Given the description of an element on the screen output the (x, y) to click on. 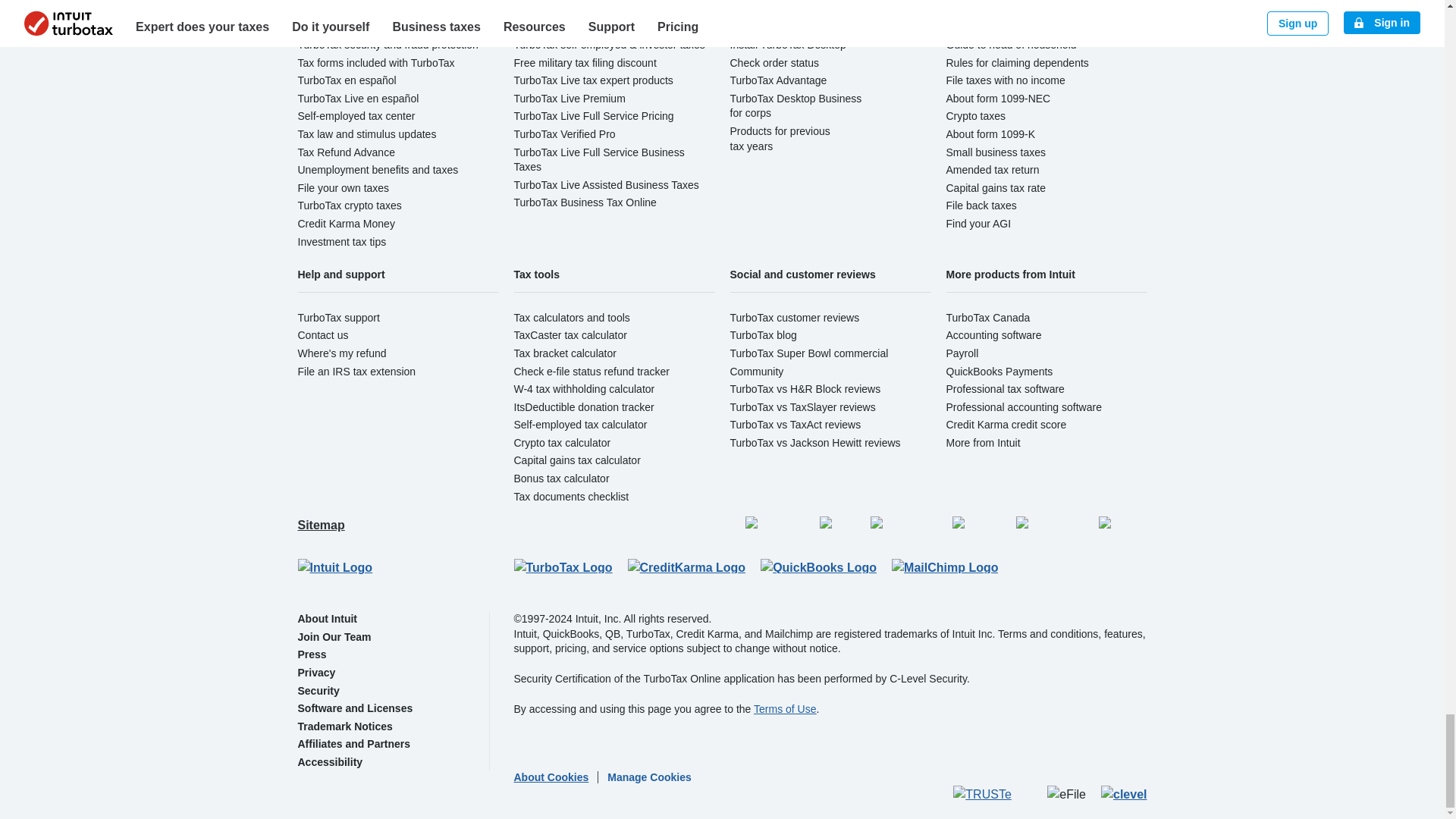
TurboTax Business for corps (795, 105)
All online tax preparation software (377, 9)
Free Military tax filing discount (584, 62)
TurboTax Verified Pro (564, 133)
Install TurboTax Desktop (787, 44)
Free Edition tax filing (562, 9)
TurboTax Advantage program (778, 80)
TurboTax Live tax expert products (592, 80)
Check order status (773, 62)
Deluxe to maximize tax deductions (595, 26)
